Given the description of an element on the screen output the (x, y) to click on. 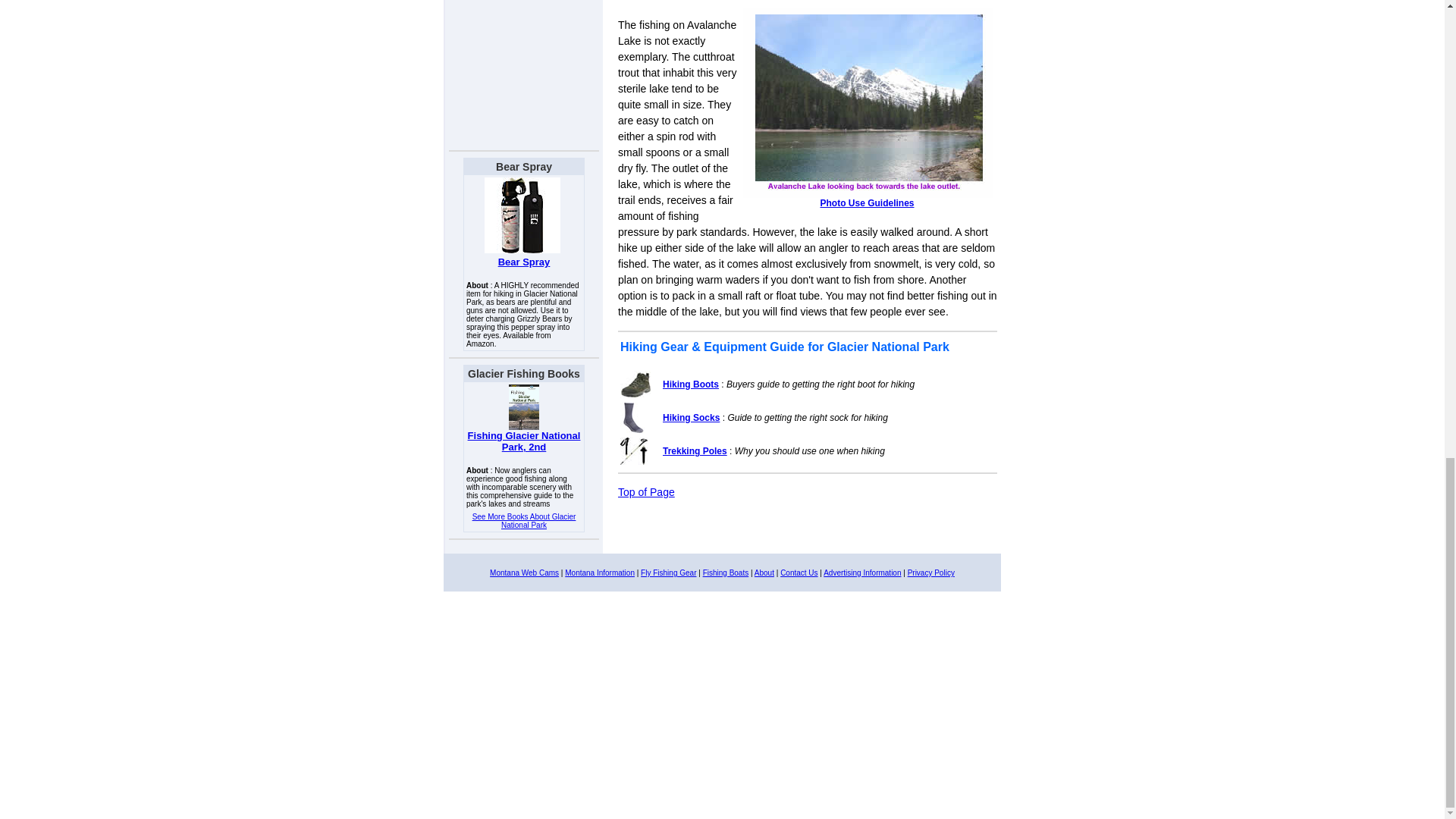
Advertisement (523, 72)
Fly Fishing Gear (667, 572)
Bear Spray (523, 261)
Trekking Poles (694, 450)
Fishing Glacier National Park, 2nd (523, 440)
Montana Information (599, 572)
Hiking Socks (690, 417)
Fishing Boats (726, 572)
Montana Web Cams (524, 572)
Hiking Boots (690, 384)
